Given the description of an element on the screen output the (x, y) to click on. 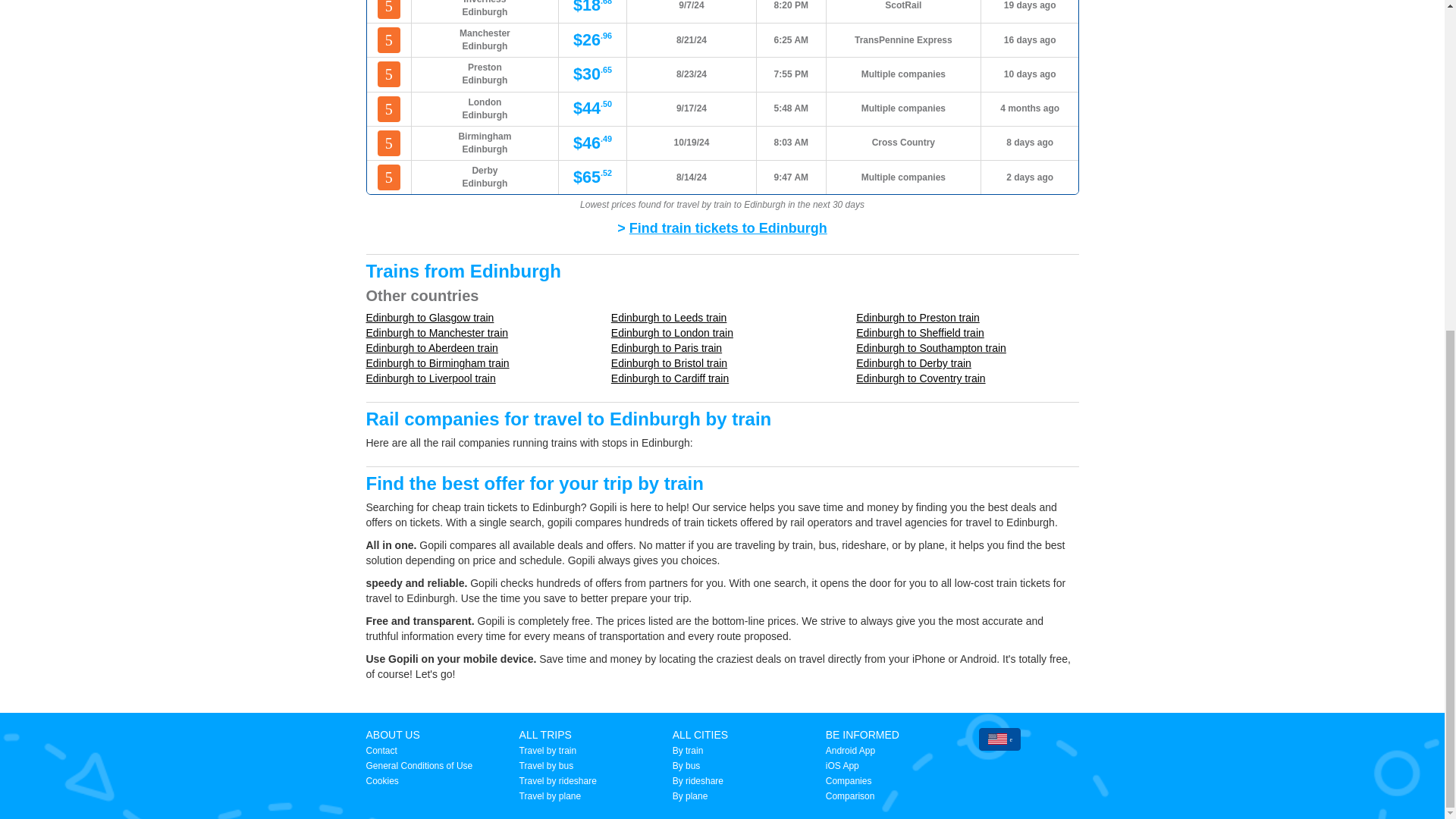
Edinburgh to London train (672, 332)
General Conditions of Use (418, 765)
Contact (380, 750)
Edinburgh to Southampton train (931, 347)
Edinburgh to Liverpool train (430, 378)
Cookies (381, 780)
Edinburgh to Paris train (666, 347)
Edinburgh to Aberdeen train (431, 347)
Edinburgh to Cardiff train (670, 378)
Companies (848, 780)
